Given the description of an element on the screen output the (x, y) to click on. 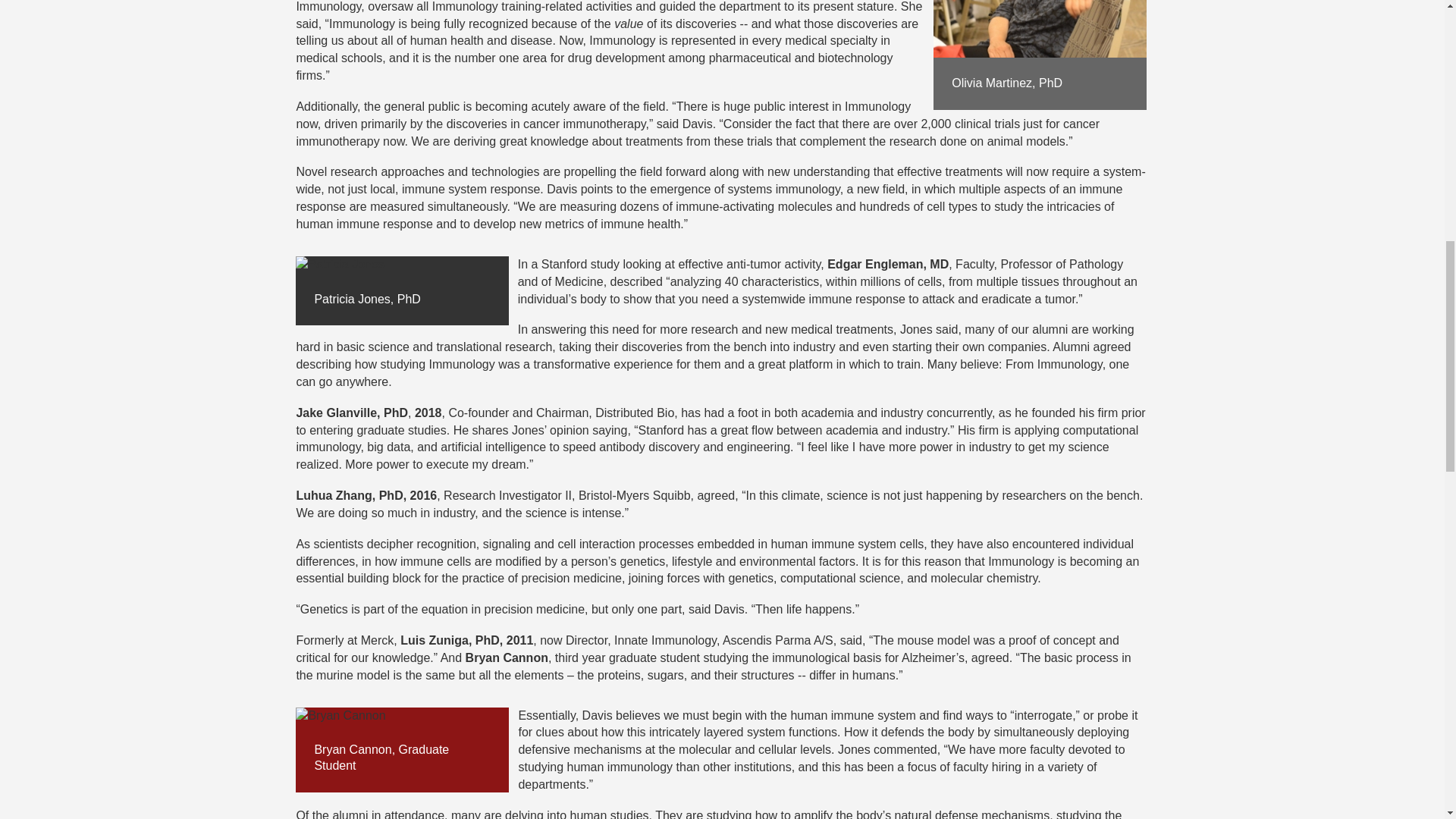
Olivia Martinez  (1039, 28)
Bryan Cannon  (401, 715)
Patricia Jones  (401, 264)
